Given the description of an element on the screen output the (x, y) to click on. 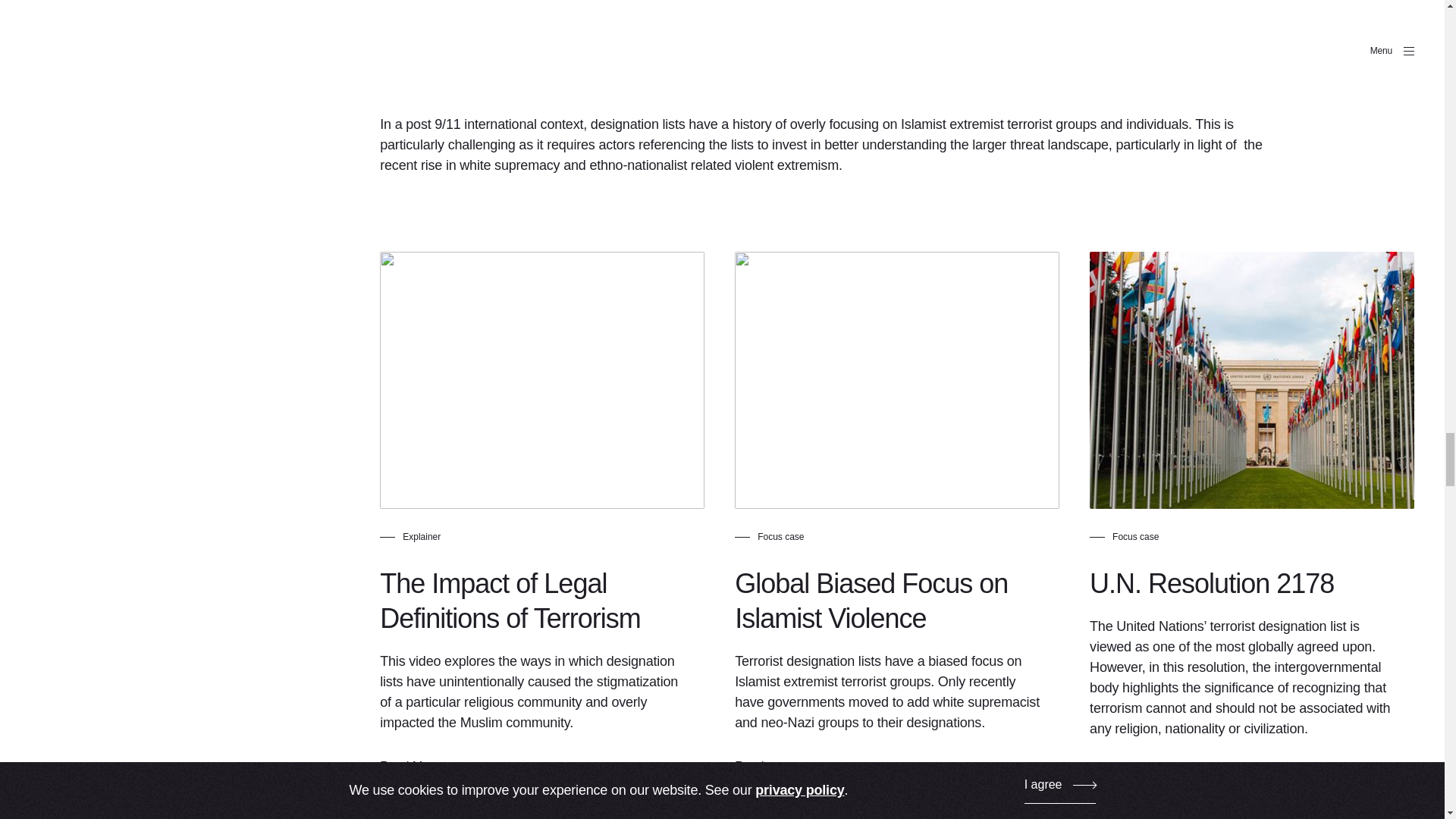
Read more (781, 772)
Read more (1135, 777)
Read More (426, 772)
